Given the description of an element on the screen output the (x, y) to click on. 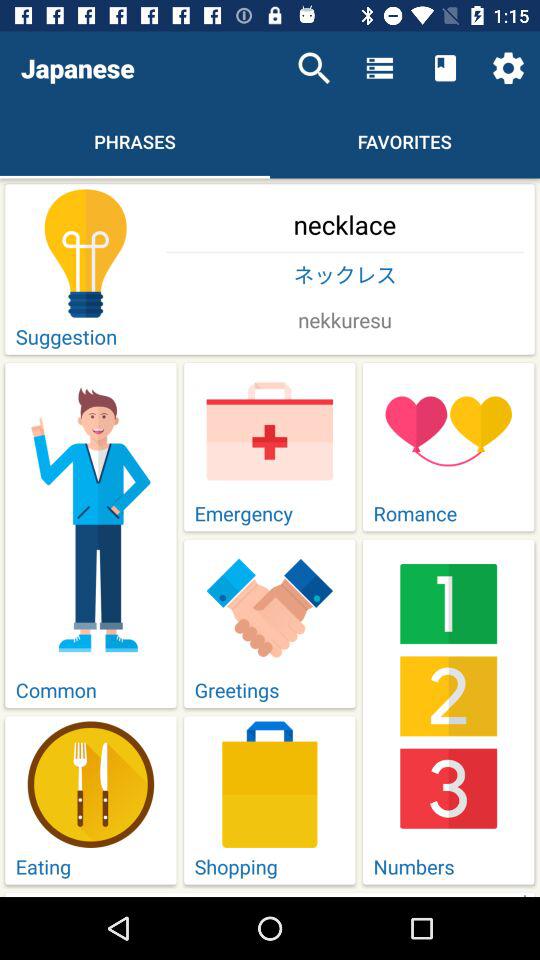
click icon above the necklace item (508, 67)
